Given the description of an element on the screen output the (x, y) to click on. 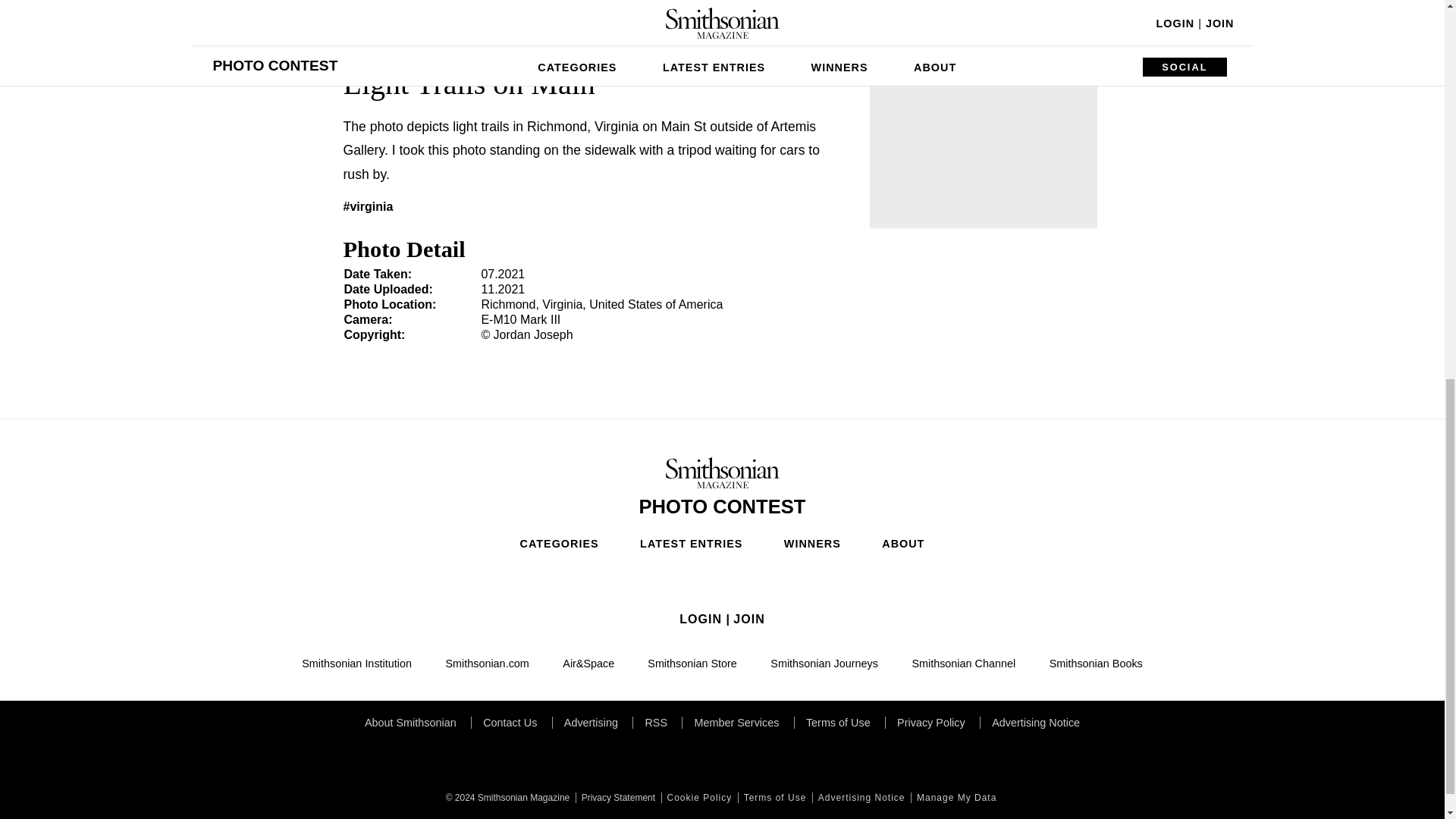
Privacy Statement (616, 797)
Cookie Policy (698, 797)
Manage My Data (954, 797)
Advertising Notice (859, 797)
Terms of Use (773, 797)
